Given the description of an element on the screen output the (x, y) to click on. 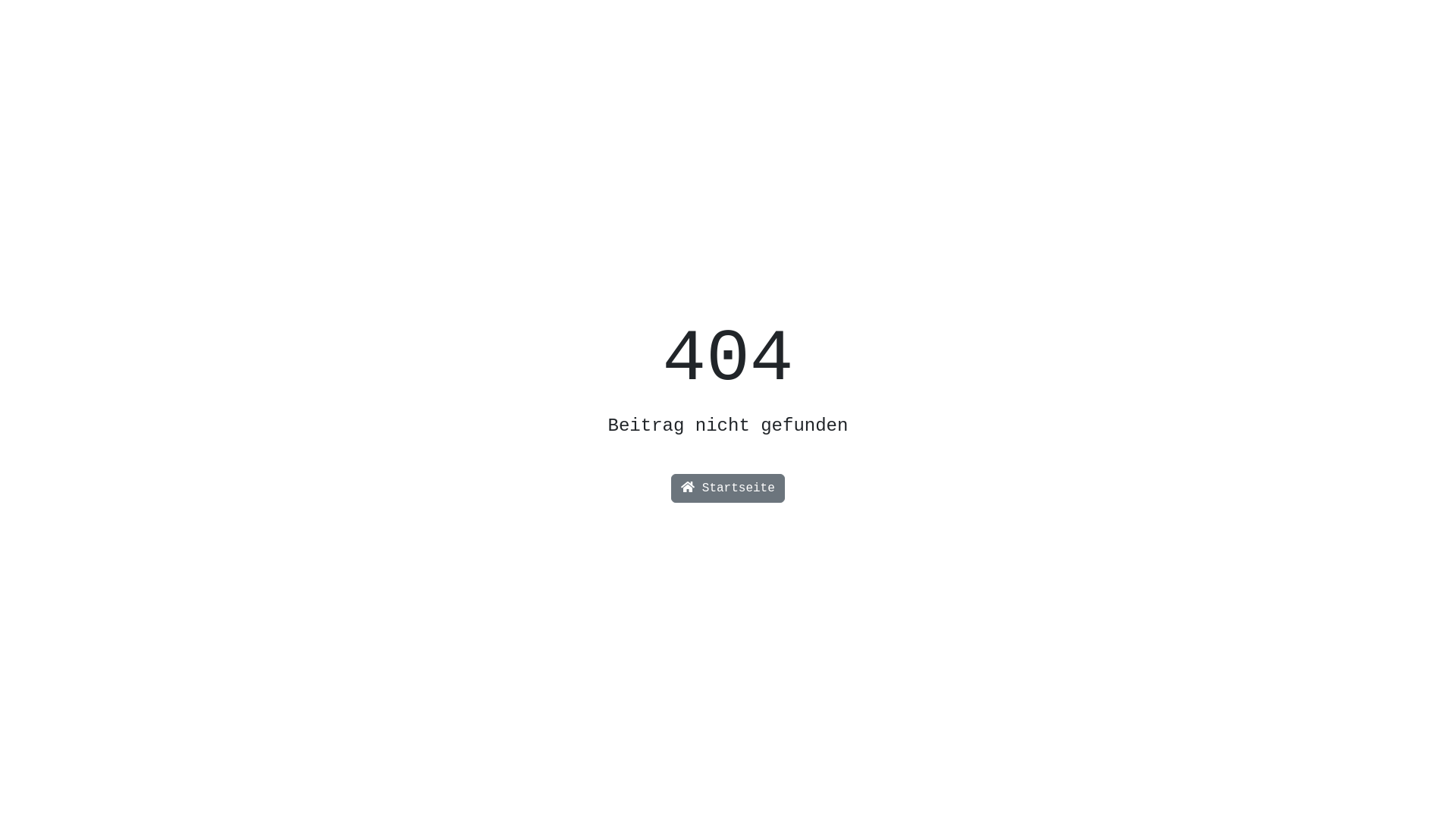
Startseite Element type: text (727, 487)
